Given the description of an element on the screen output the (x, y) to click on. 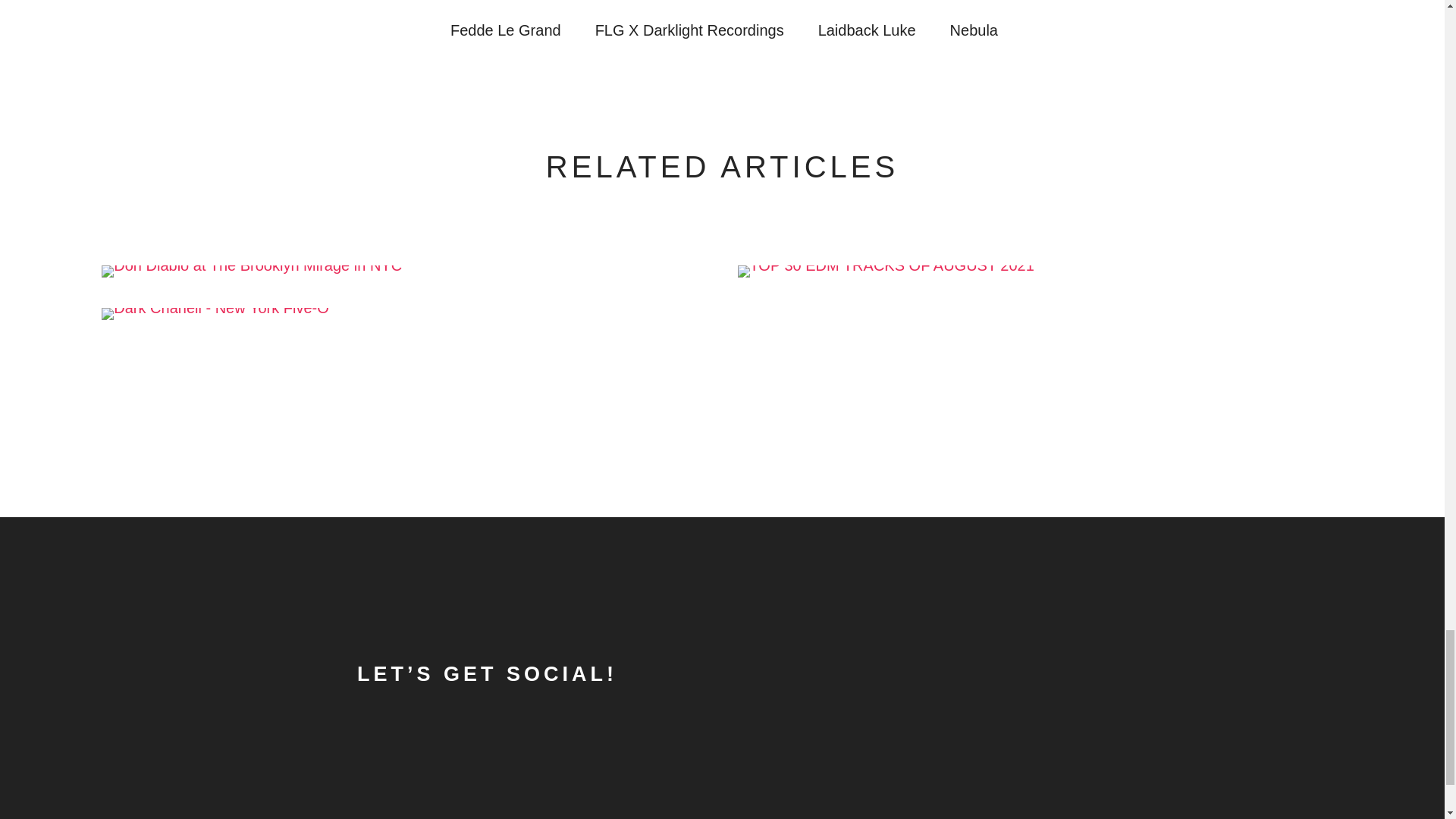
Laidback Luke (866, 30)
FLG X Darklight Recordings (689, 30)
Nebula (973, 30)
Fedde Le Grand (504, 30)
